Given the description of an element on the screen output the (x, y) to click on. 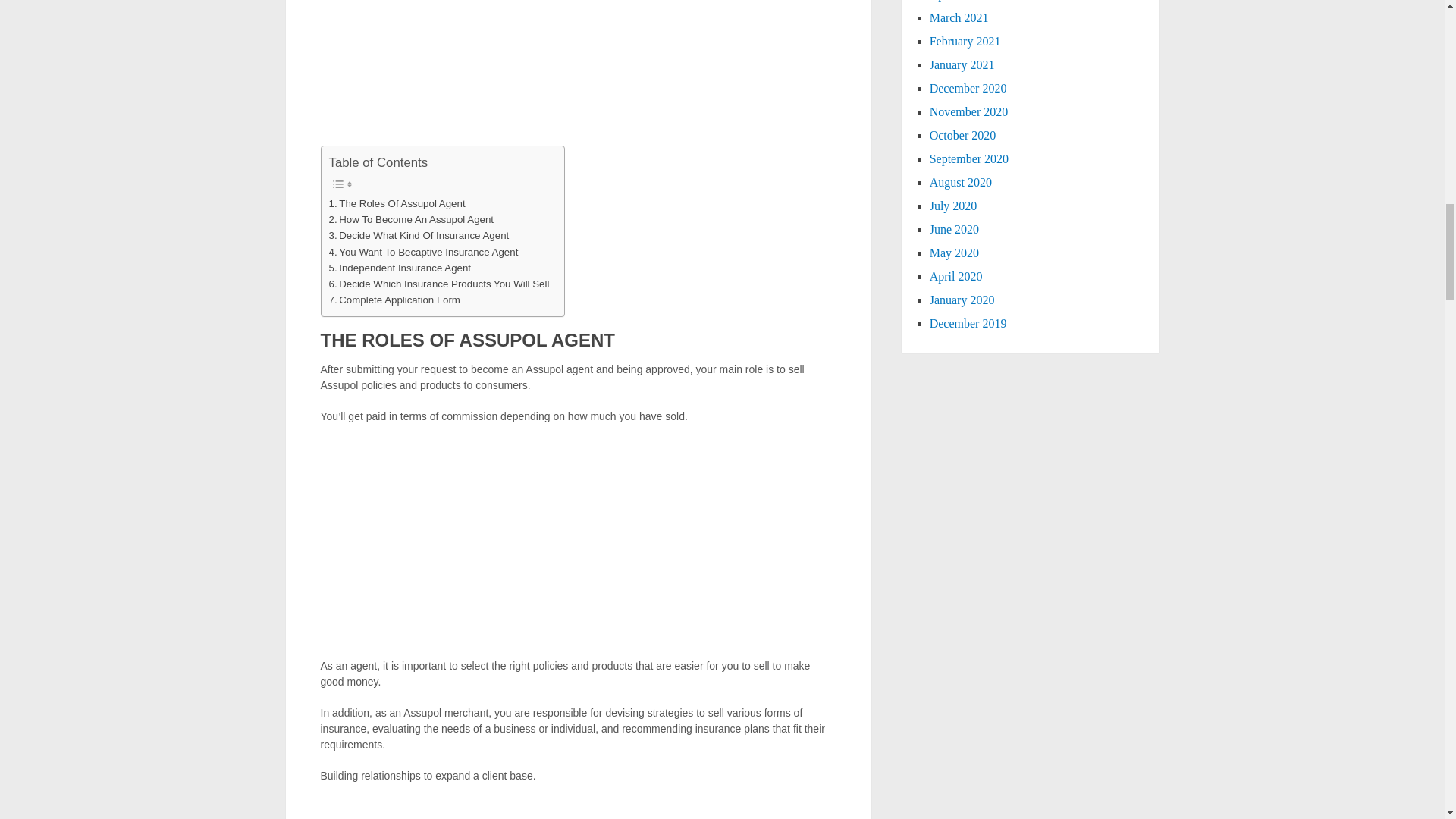
Decide What Kind Of Insurance Agent (419, 235)
How To Become An Assupol Agent (412, 219)
Complete Application Form (394, 299)
How To Become An Assupol Agent (412, 219)
Decide What Kind Of Insurance Agent (419, 235)
Decide Which Insurance Products You Will Sell (439, 283)
Complete Application Form (394, 299)
Decide Which Insurance Products You Will Sell (439, 283)
Independent Insurance Agent (400, 268)
Independent Insurance Agent (400, 268)
You Want To Becaptive Insurance Agent (423, 252)
The Roles Of Assupol Agent (397, 203)
The Roles Of Assupol Agent (397, 203)
You Want To Becaptive Insurance Agent (423, 252)
